Given the description of an element on the screen output the (x, y) to click on. 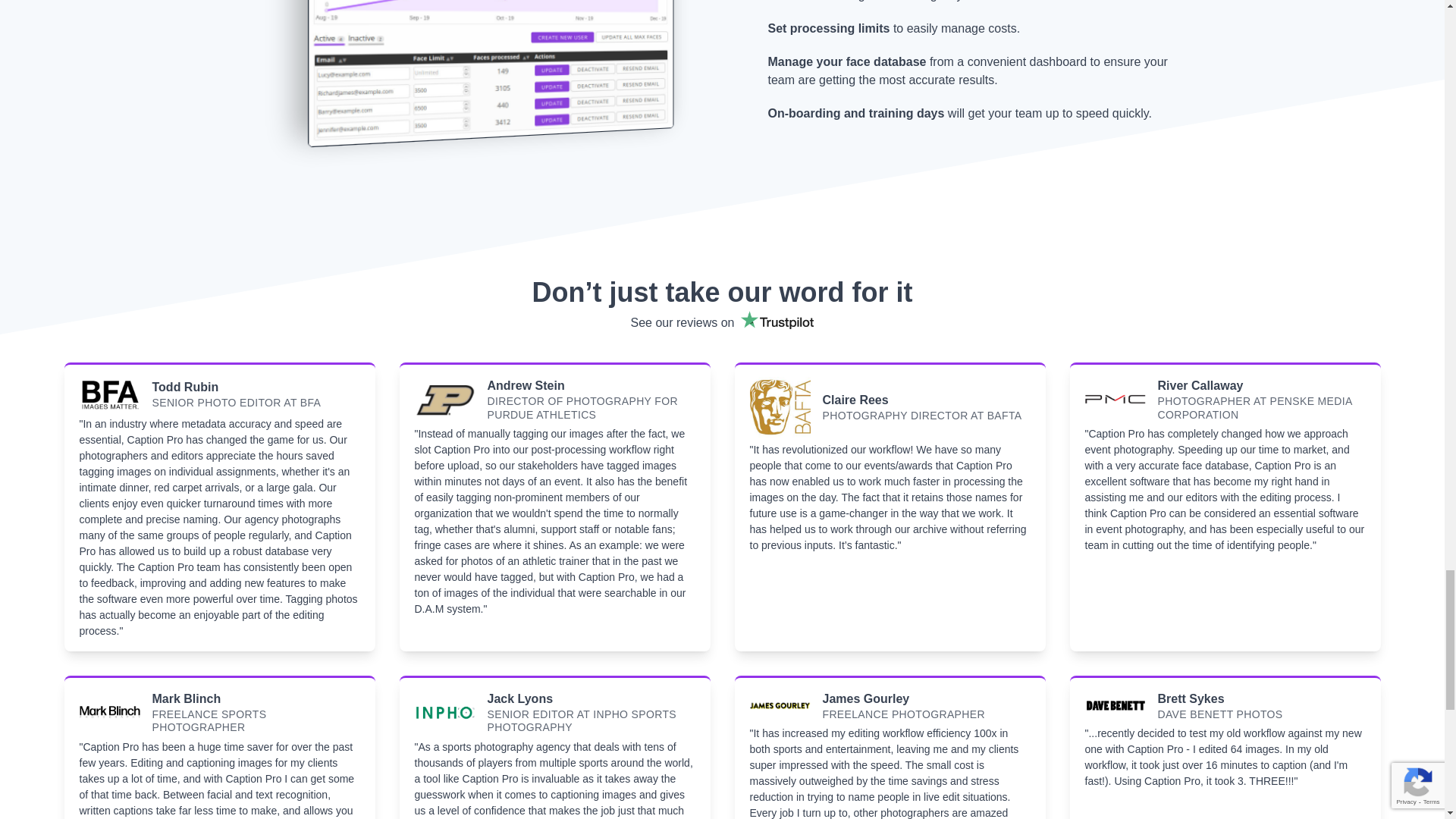
See our reviews on (721, 322)
